Given the description of an element on the screen output the (x, y) to click on. 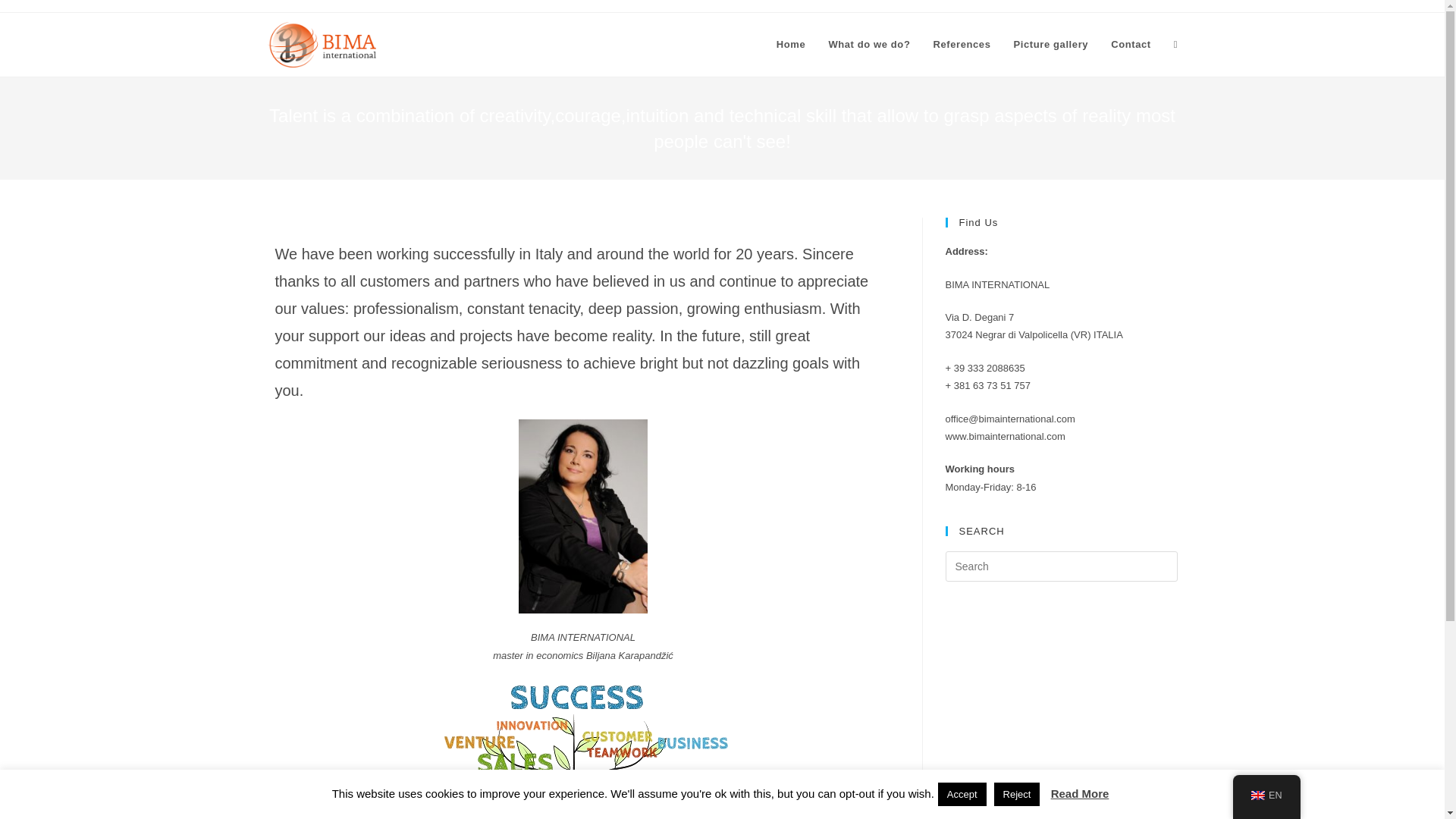
Accept (962, 793)
What do we do? (868, 44)
English (1257, 795)
Read More (1080, 793)
Reject (1017, 793)
Home (790, 44)
Picture gallery (1051, 44)
References (961, 44)
EN (1266, 795)
Contact (1130, 44)
